Given the description of an element on the screen output the (x, y) to click on. 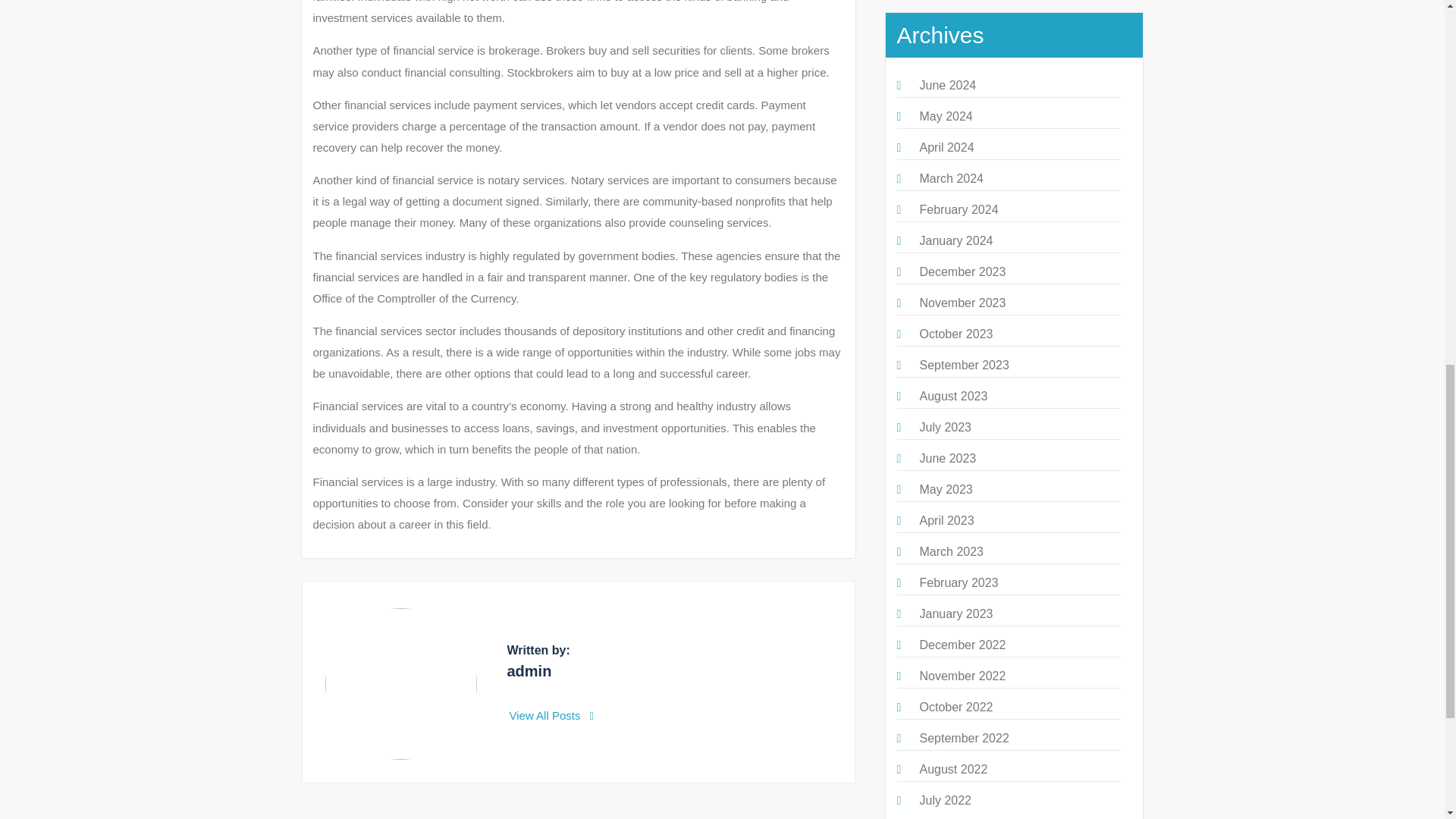
August 2022 (952, 768)
July 2022 (944, 799)
April 2024 (946, 146)
August 2023 (952, 395)
September 2023 (963, 364)
View All Posts (551, 715)
February 2024 (957, 209)
May 2023 (945, 489)
May 2024 (945, 115)
November 2022 (962, 675)
